Given the description of an element on the screen output the (x, y) to click on. 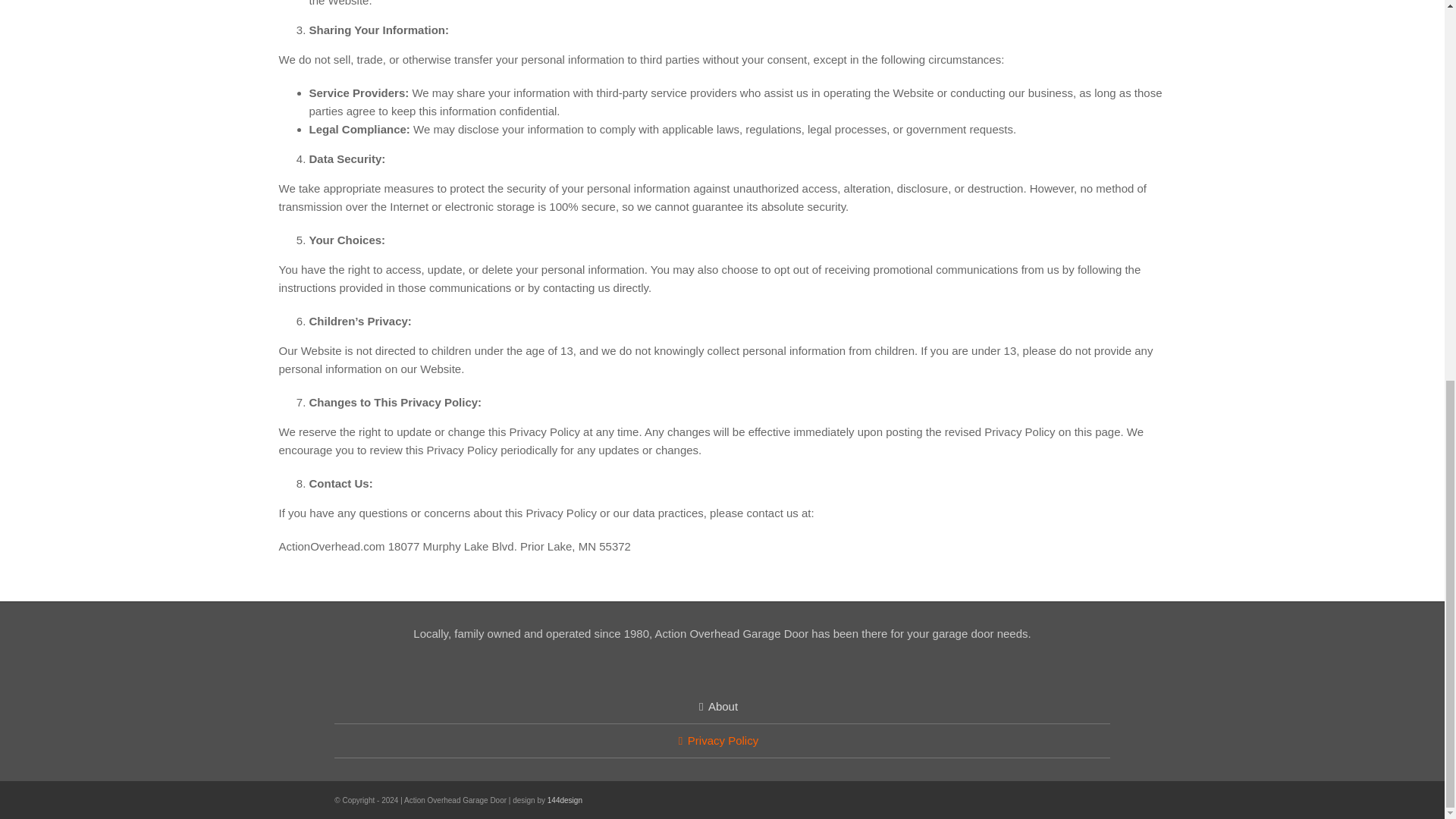
About (722, 706)
Privacy Policy (722, 741)
144design (564, 800)
